Given the description of an element on the screen output the (x, y) to click on. 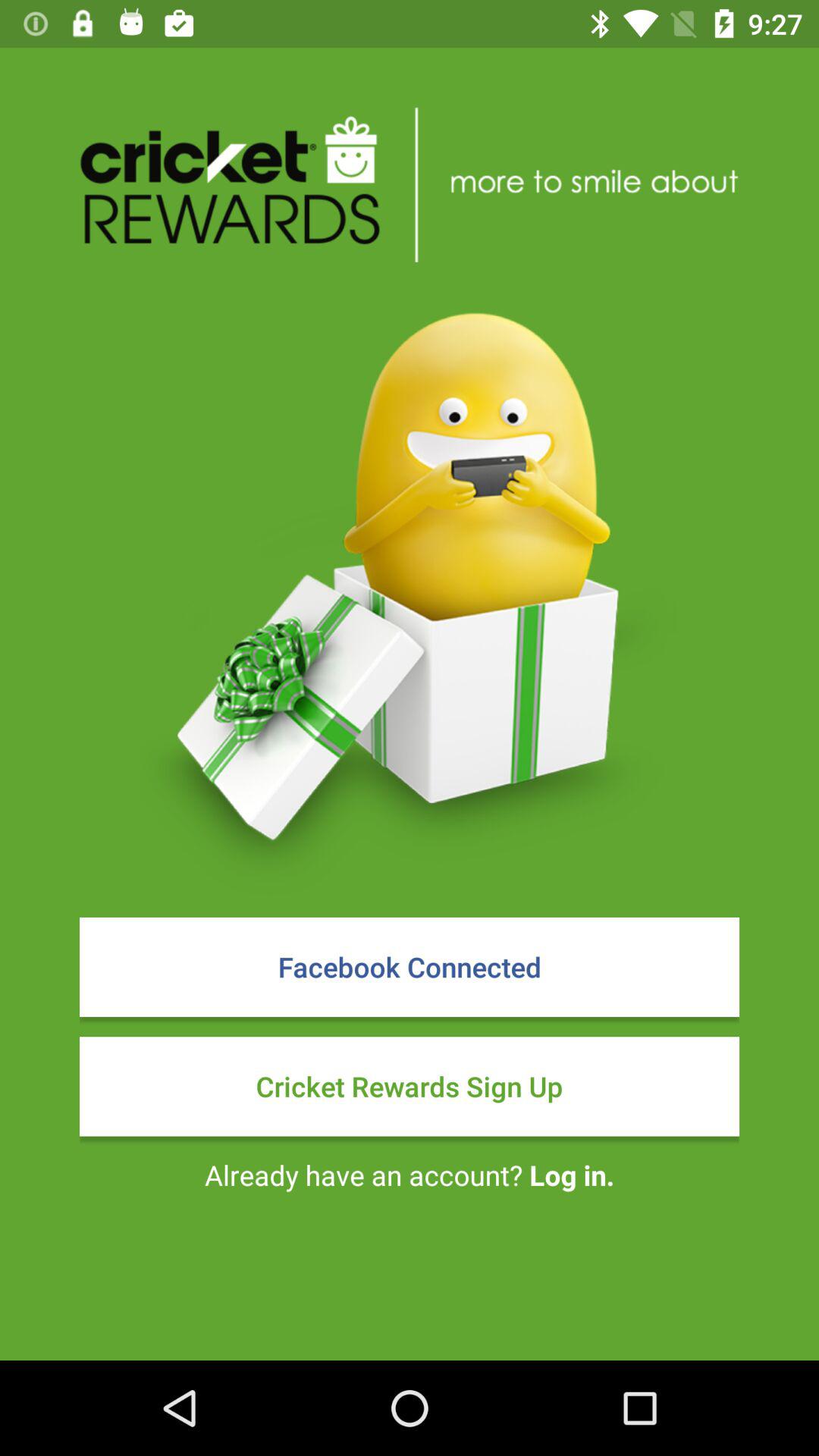
open icon above already have an (409, 1086)
